Given the description of an element on the screen output the (x, y) to click on. 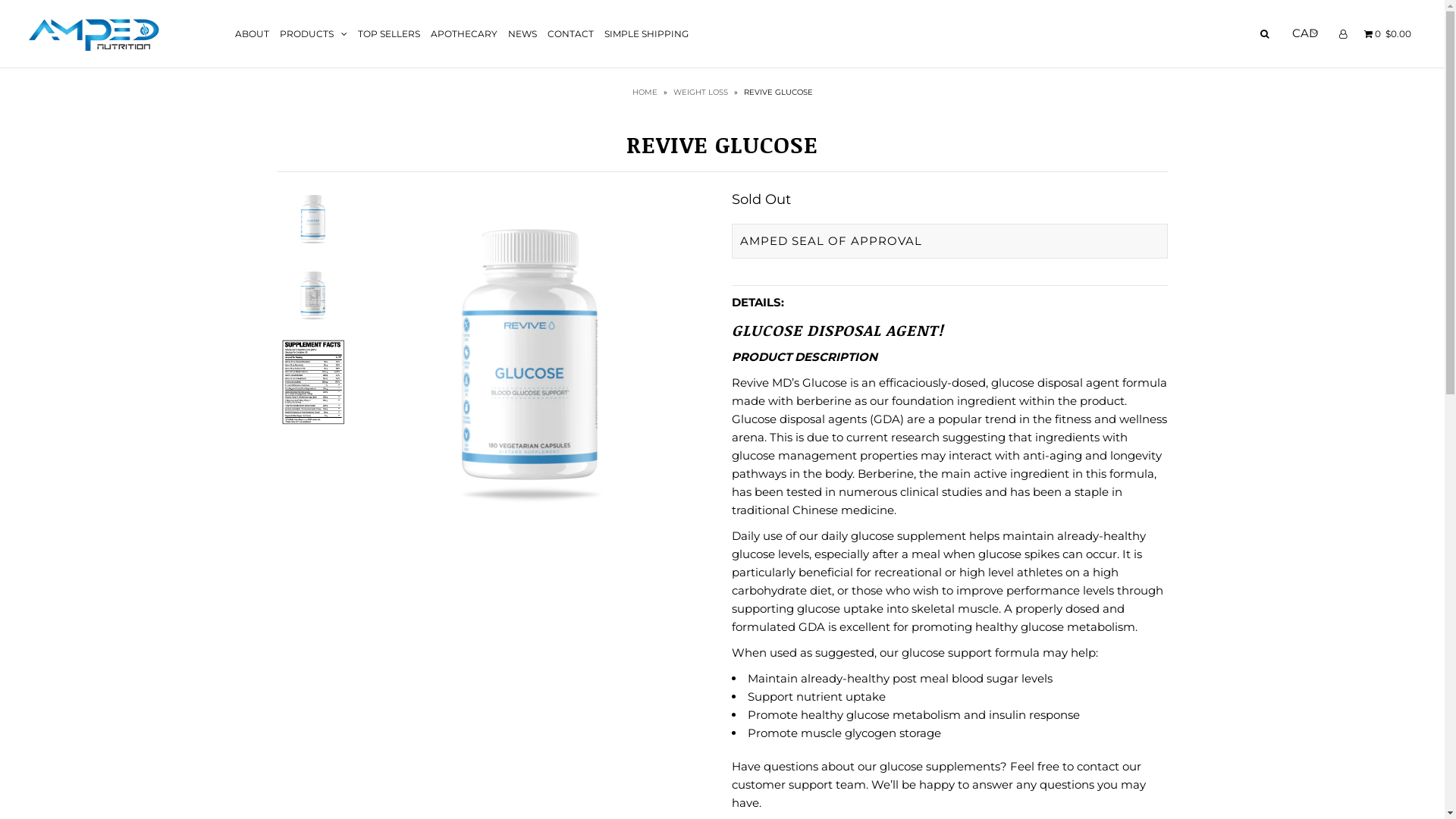
NEWS Element type: text (522, 33)
APOTHECARY Element type: text (463, 33)
CONTACT Element type: text (570, 33)
ABOUT Element type: text (252, 33)
TOP SELLERS Element type: text (388, 33)
PRODUCTS Element type: text (313, 33)
SIMPLE SHIPPING Element type: text (646, 33)
HOME Element type: text (646, 92)
REVIVE GLUCOSE Element type: hover (531, 364)
  0  $0.00 Element type: text (1386, 33)
WEIGHT LOSS Element type: text (702, 92)
